Given the description of an element on the screen output the (x, y) to click on. 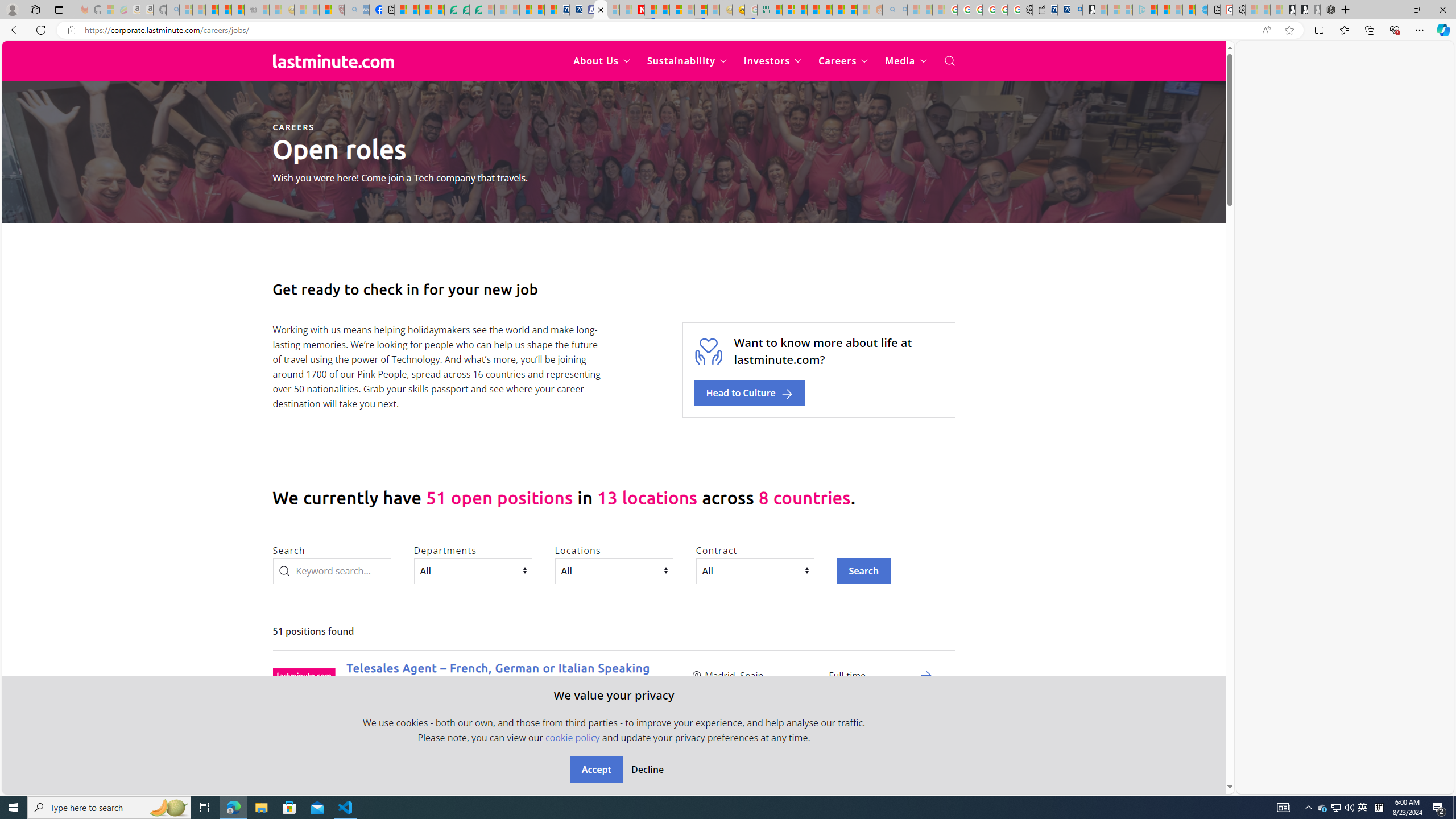
Departments (472, 570)
Read full details about role: Full Stack Engineer (925, 776)
Cheap Car Rentals - Save70.com (1063, 9)
New Tab (1346, 9)
The Weather Channel - MSN (212, 9)
Nordace - Nordace Siena Is Not An Ordinary Backpack (1327, 9)
New Report Confirms 2023 Was Record Hot | Watch (237, 9)
Robert H. Shmerling, MD - Harvard Health - Sleeping (338, 9)
Back (13, 29)
cookie policy (571, 737)
